Given the description of an element on the screen output the (x, y) to click on. 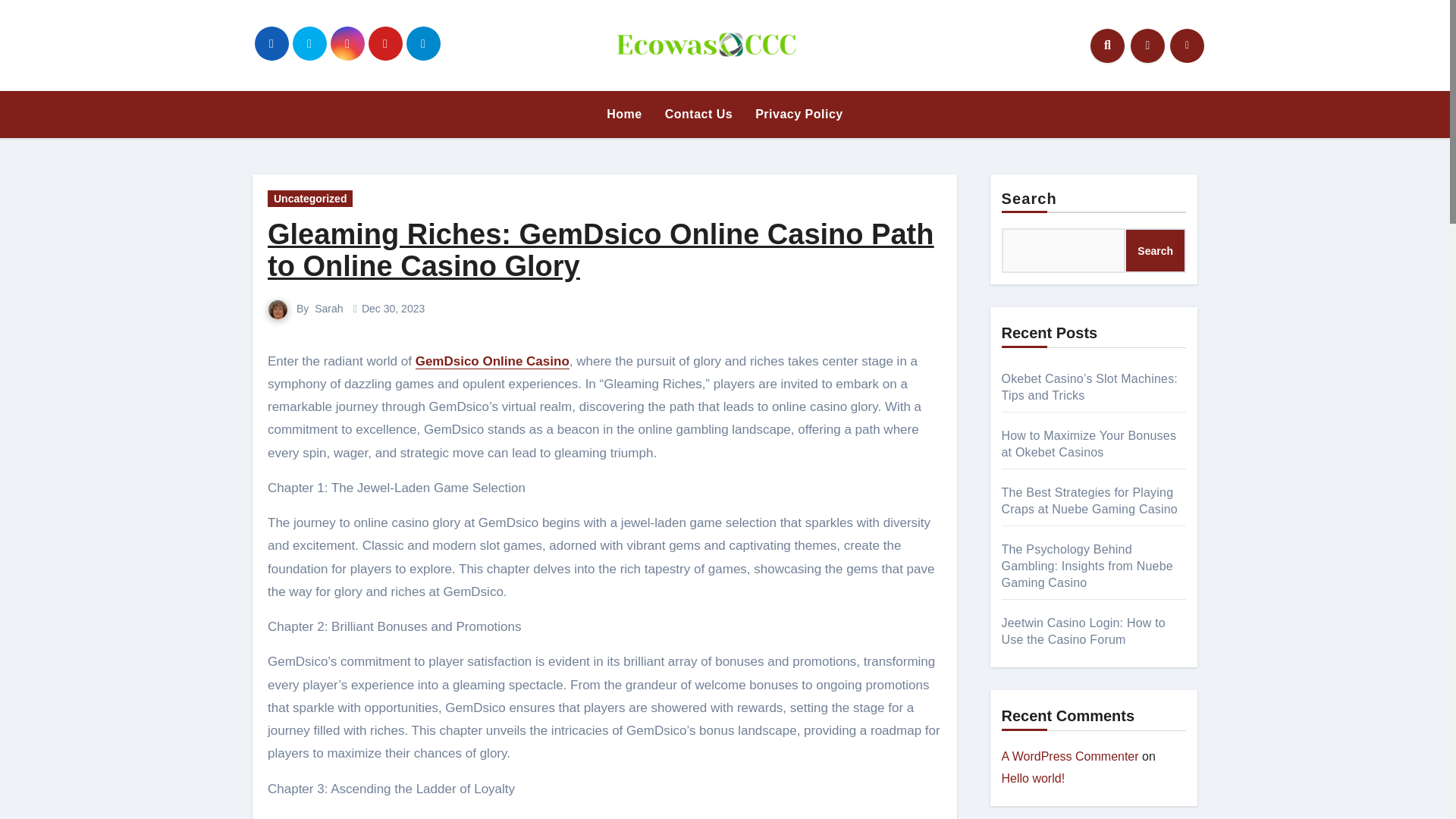
Privacy Policy (799, 114)
Home (623, 114)
Sarah (328, 308)
Uncategorized (309, 198)
Contact Us (698, 114)
Home (623, 114)
GemDsico Online Casino (491, 360)
